Given the description of an element on the screen output the (x, y) to click on. 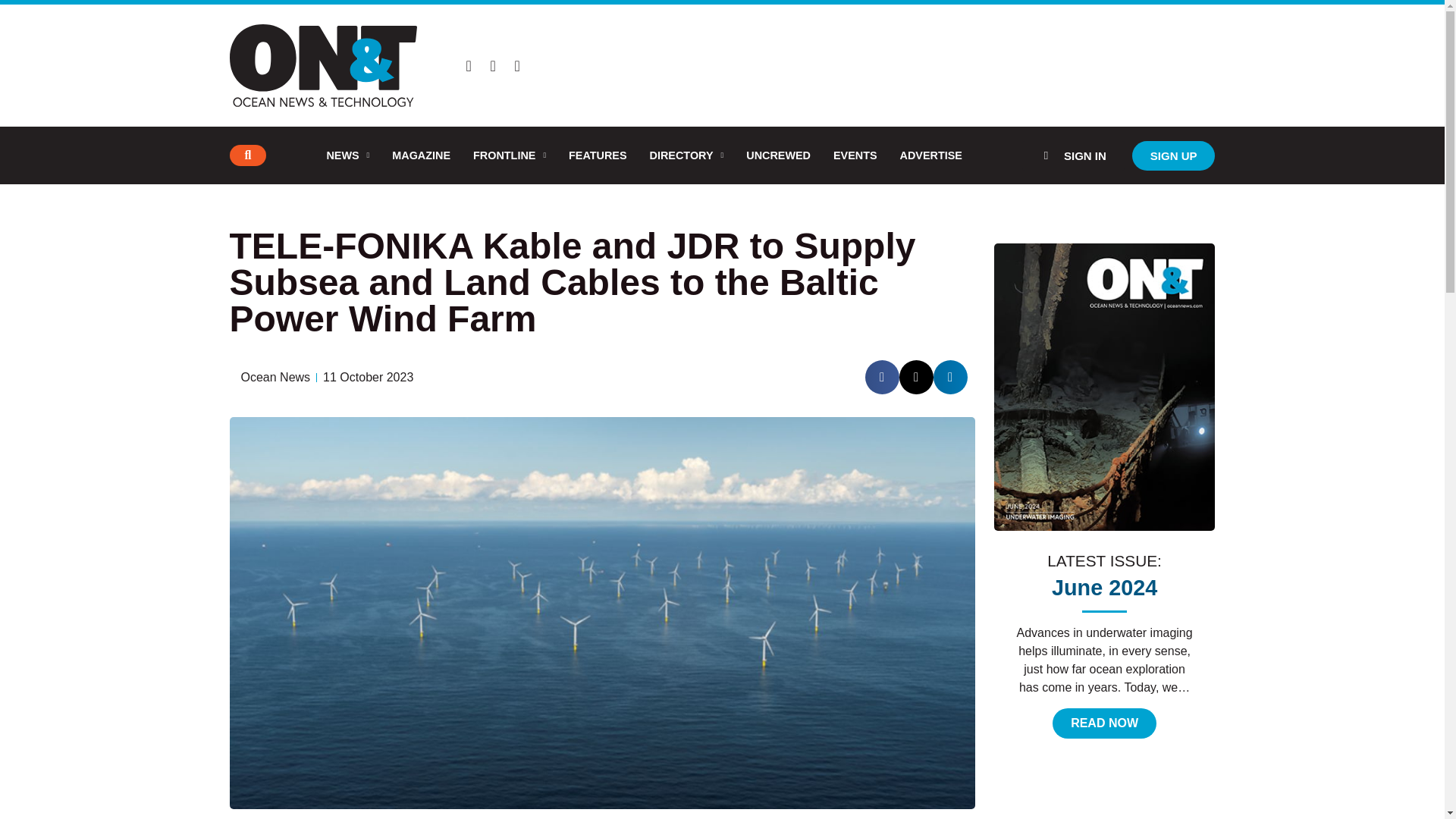
UNCREWED (778, 155)
MAGAZINE (420, 155)
ADVERTISE (931, 155)
EVENTS (855, 155)
NEWS (347, 155)
DIRECTORY (687, 155)
FRONTLINE (509, 155)
FEATURES (598, 155)
